Given the description of an element on the screen output the (x, y) to click on. 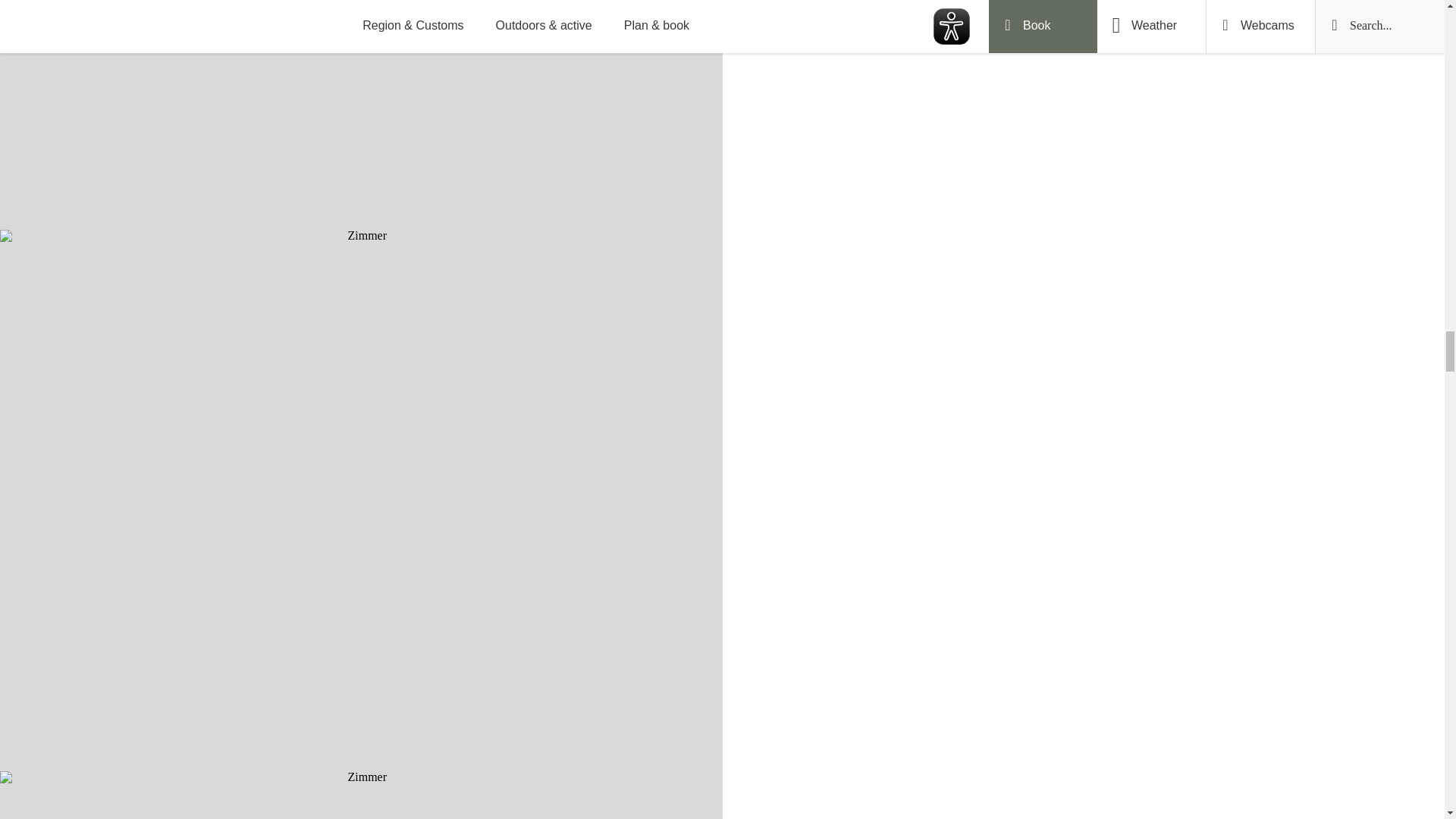
Zimmer (361, 795)
